Given the description of an element on the screen output the (x, y) to click on. 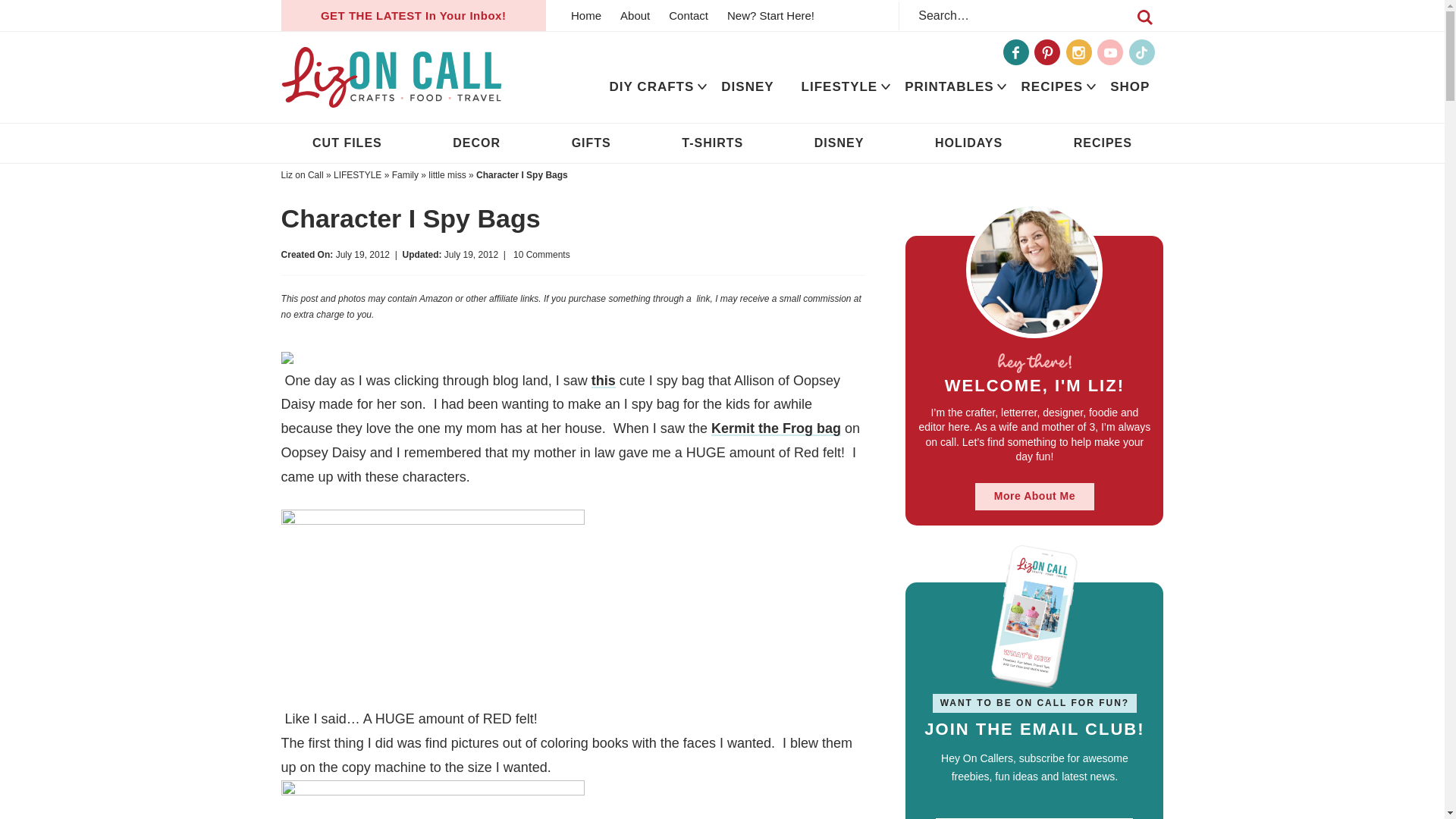
GET THE LATEST In Your Inbox! (413, 15)
Contact (688, 15)
DISNEY (747, 86)
DIY CRAFTS (651, 86)
RECIPES (1052, 86)
Home (585, 15)
Search for (1031, 15)
LIZ ON CALL (391, 77)
About (635, 15)
New? Start Here! (770, 15)
PRINTABLES (949, 86)
LIFESTYLE (839, 86)
